Given the description of an element on the screen output the (x, y) to click on. 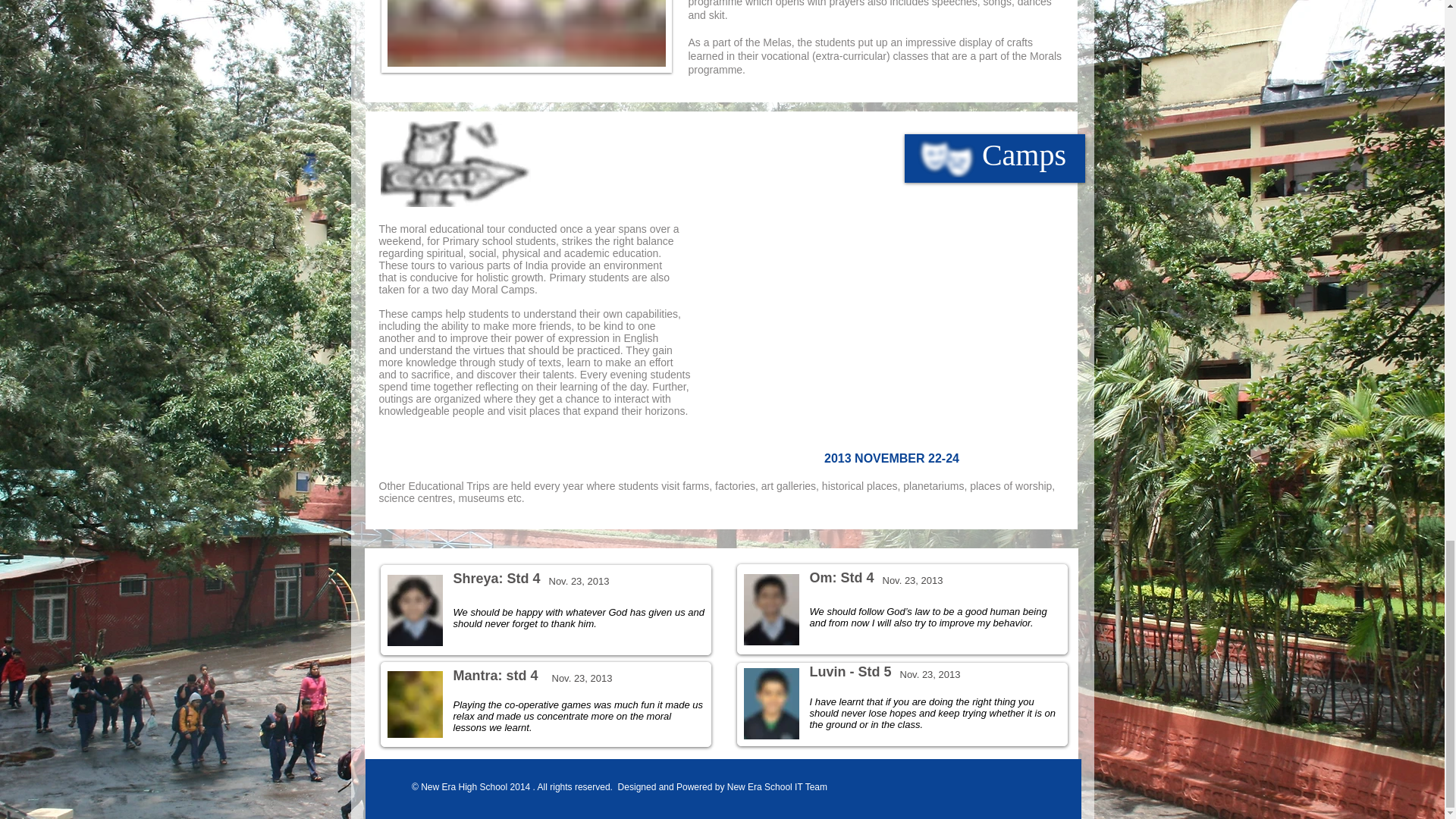
Budding Tree (414, 703)
Budding Tree (769, 703)
External YouTube (895, 334)
Budding Tree (414, 610)
Budding Tree (769, 609)
images.jpg (455, 164)
